Given the description of an element on the screen output the (x, y) to click on. 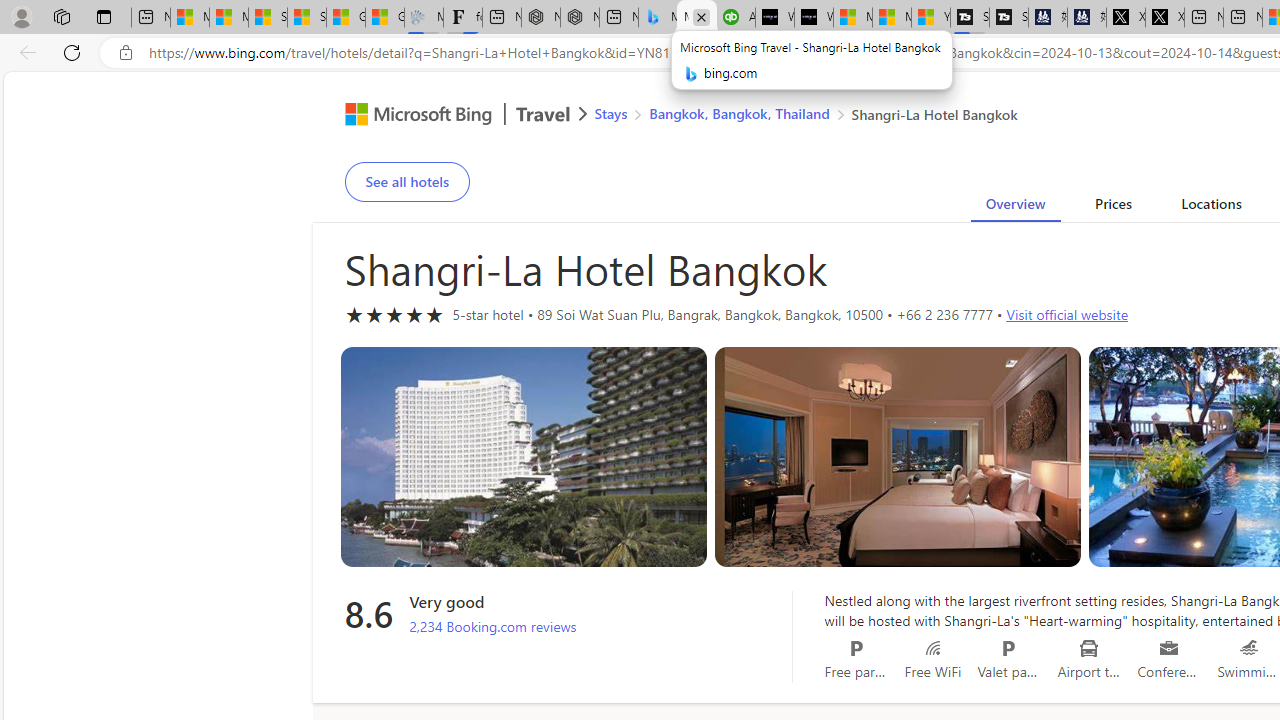
X (1164, 17)
New tab (1242, 17)
Class: msft-travel-logo (543, 114)
Conference rooms (1168, 647)
AutomationID: bread-crumb-root (793, 116)
View site information (125, 53)
Overview (1015, 207)
Tab actions menu (104, 16)
Microsoft Start Sports (852, 17)
Back (24, 52)
Accounting Software for Accountants, CPAs and Bookkeepers (735, 17)
